Given the description of an element on the screen output the (x, y) to click on. 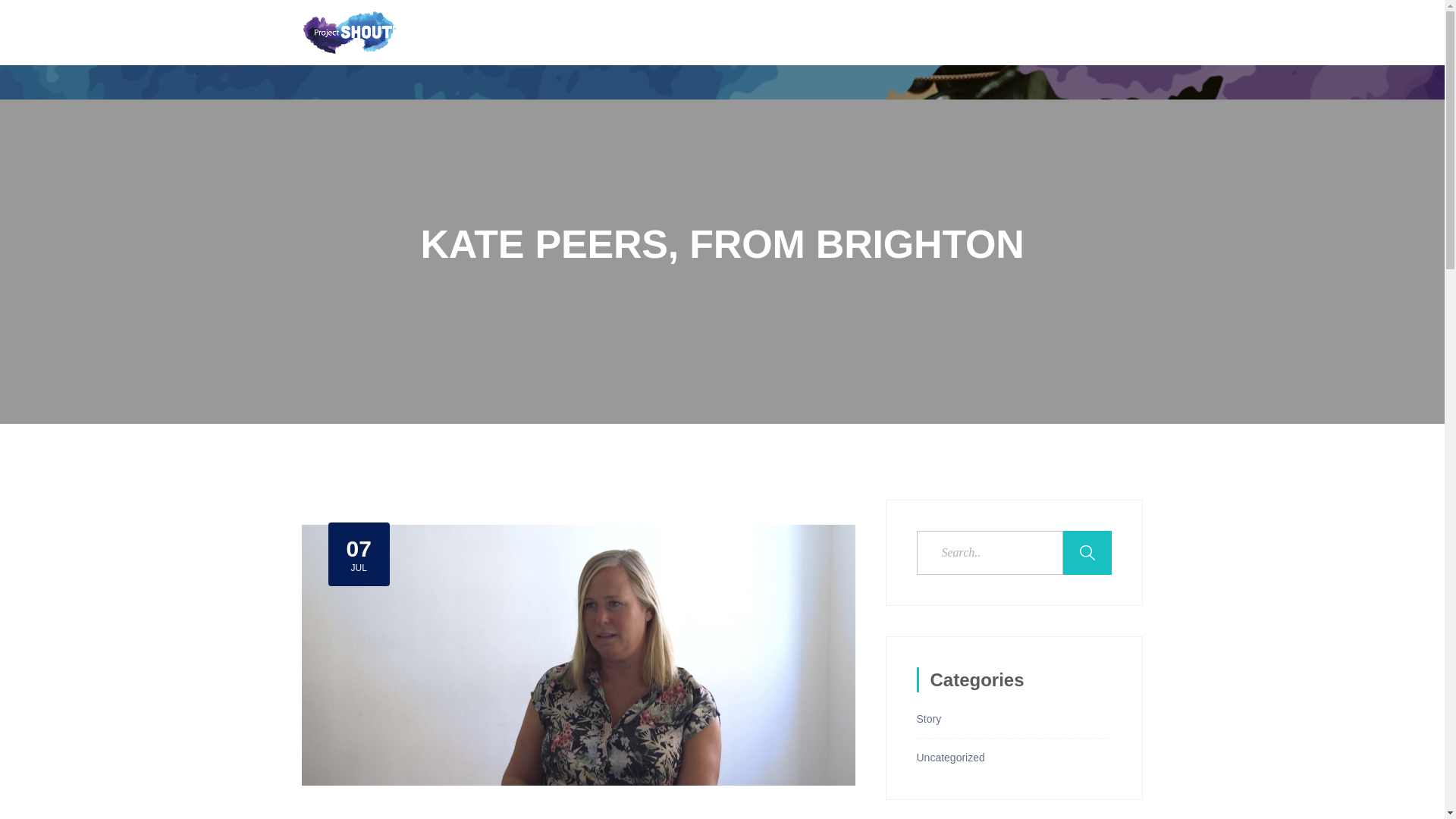
Uncategorized (949, 757)
Story (927, 718)
